Given the description of an element on the screen output the (x, y) to click on. 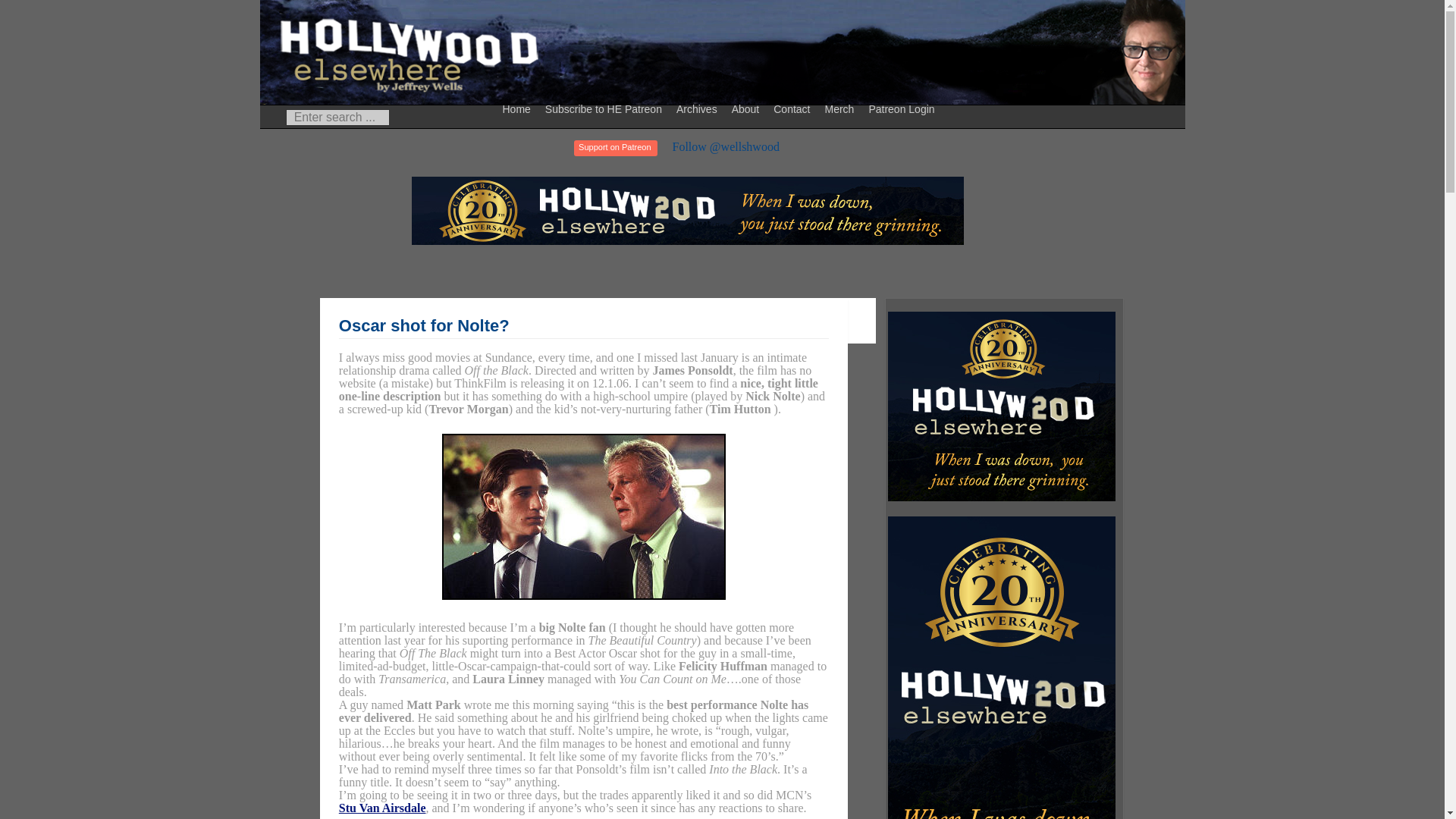
Support on Patreon (614, 148)
Subscribe to HE Patreon (605, 108)
Home (519, 108)
Stu Van Airsdale (382, 807)
Oscar shot for Nolte? (424, 325)
Permanent Link to Oscar shot for Nolte? (424, 325)
Archives (698, 108)
Contact (793, 108)
About (747, 108)
Merch (841, 108)
